Given the description of an element on the screen output the (x, y) to click on. 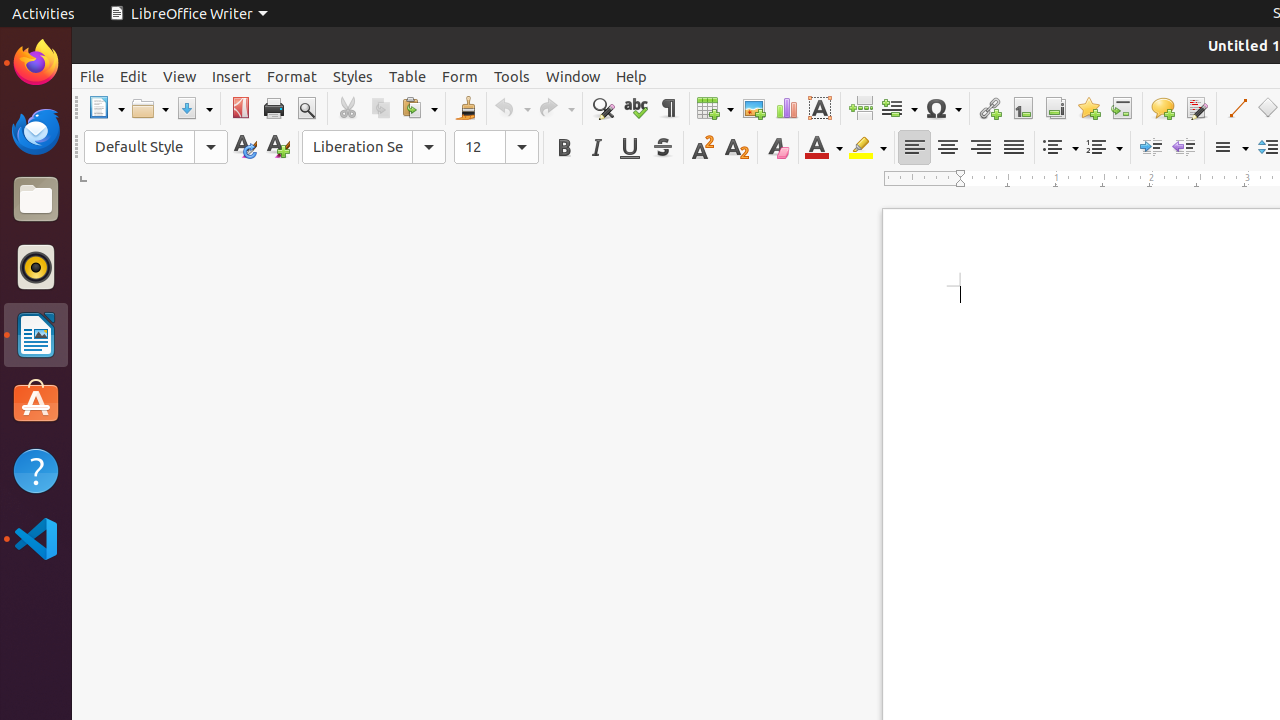
Formatting Marks Element type: toggle-button (668, 108)
Bookmark Element type: push-button (1088, 108)
Insert Element type: menu (231, 76)
File Element type: menu (92, 76)
Font Size Element type: panel (496, 147)
